Given the description of an element on the screen output the (x, y) to click on. 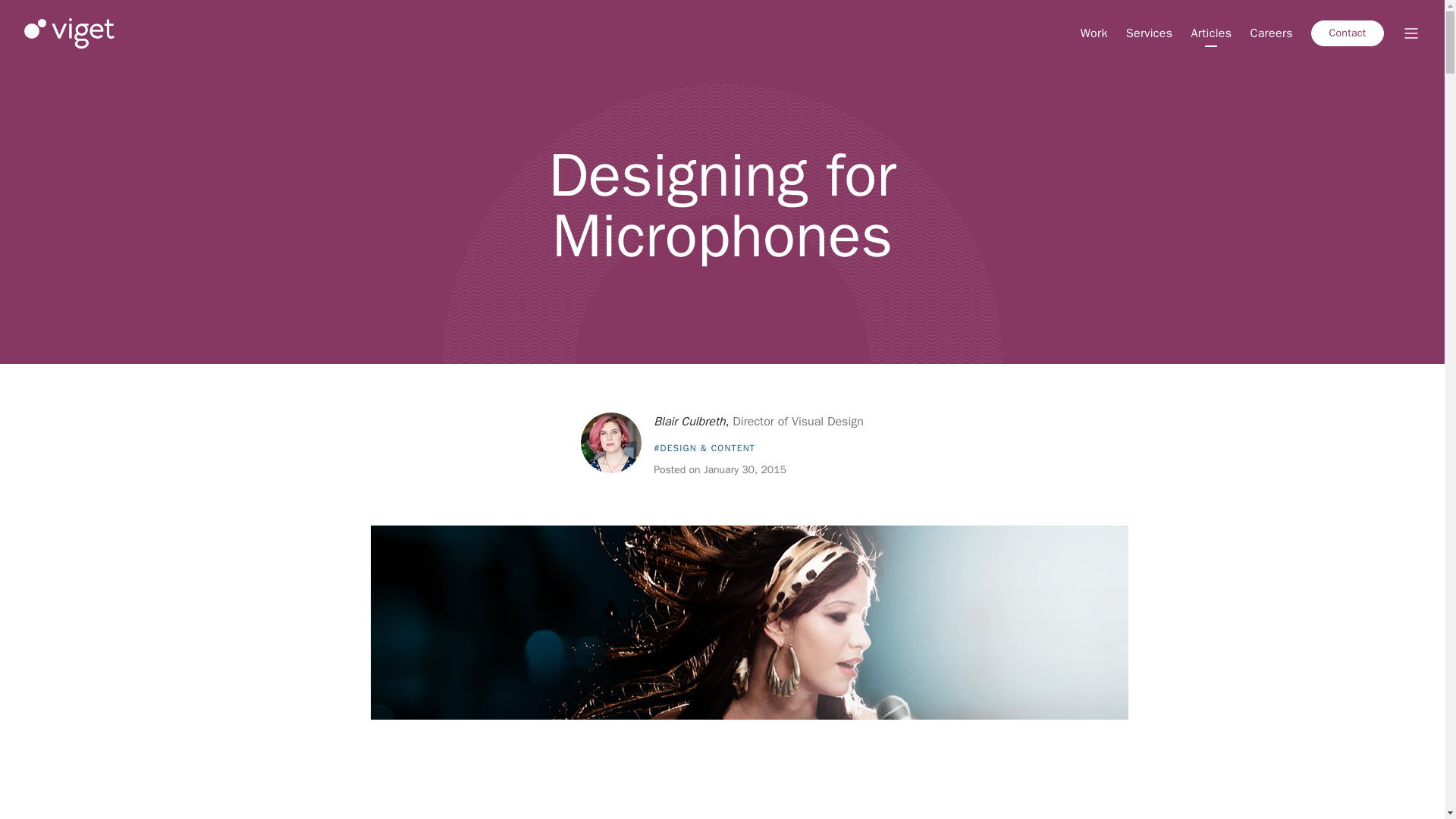
Viget (69, 33)
Work (1094, 32)
Contact (1347, 32)
Careers (1270, 32)
Articles (1211, 32)
Blair Culbreth (689, 421)
Services (1149, 32)
Open Menu (1411, 33)
